Given the description of an element on the screen output the (x, y) to click on. 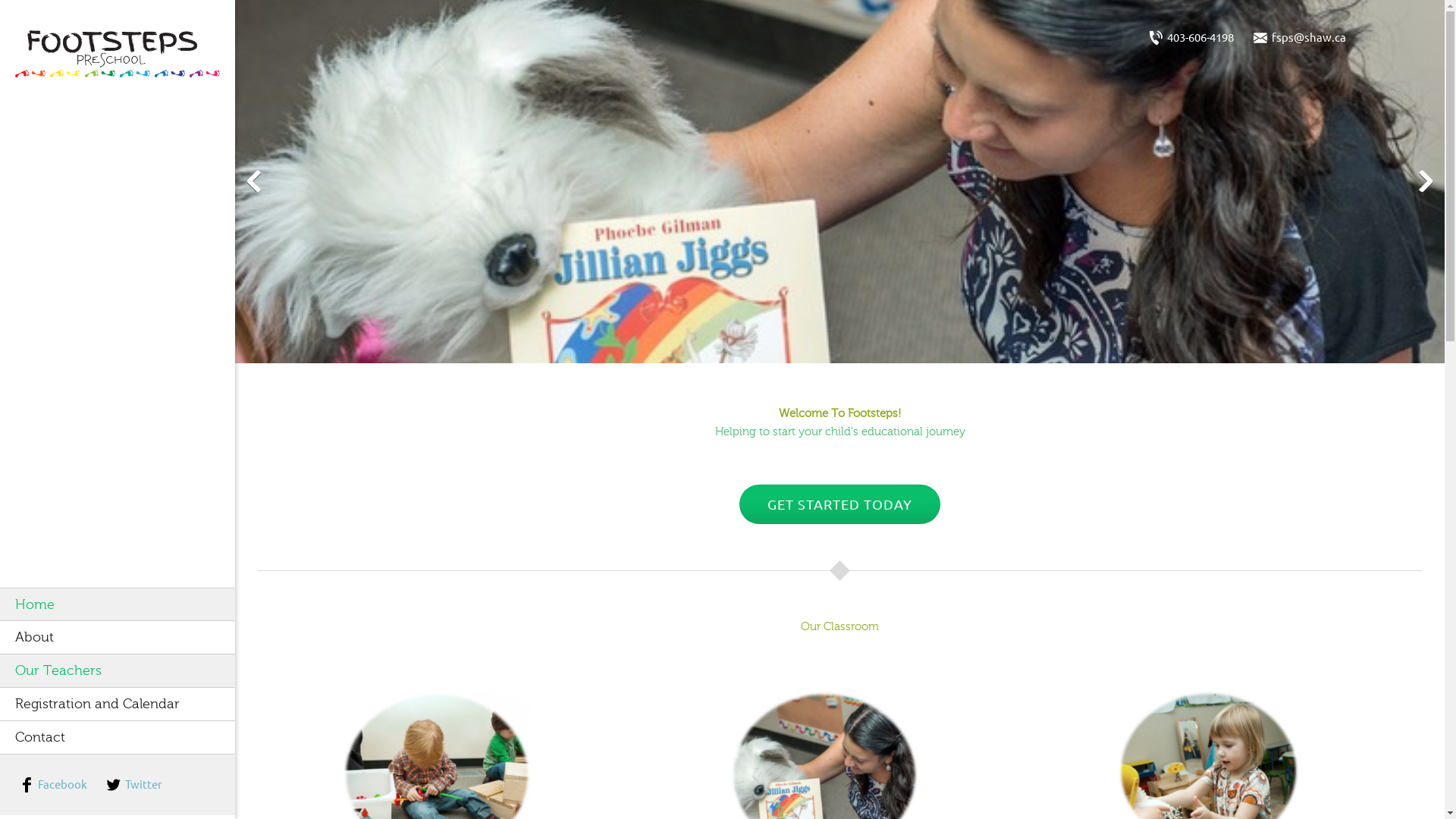
Home (117, 604)
About (117, 636)
Email (1305, 37)
Our Teachers (117, 670)
Home (117, 604)
Contact  (117, 737)
Registration and Calendar (117, 703)
Twitter (139, 784)
GET STARTED TODAY (839, 499)
Facebook (57, 784)
